Given the description of an element on the screen output the (x, y) to click on. 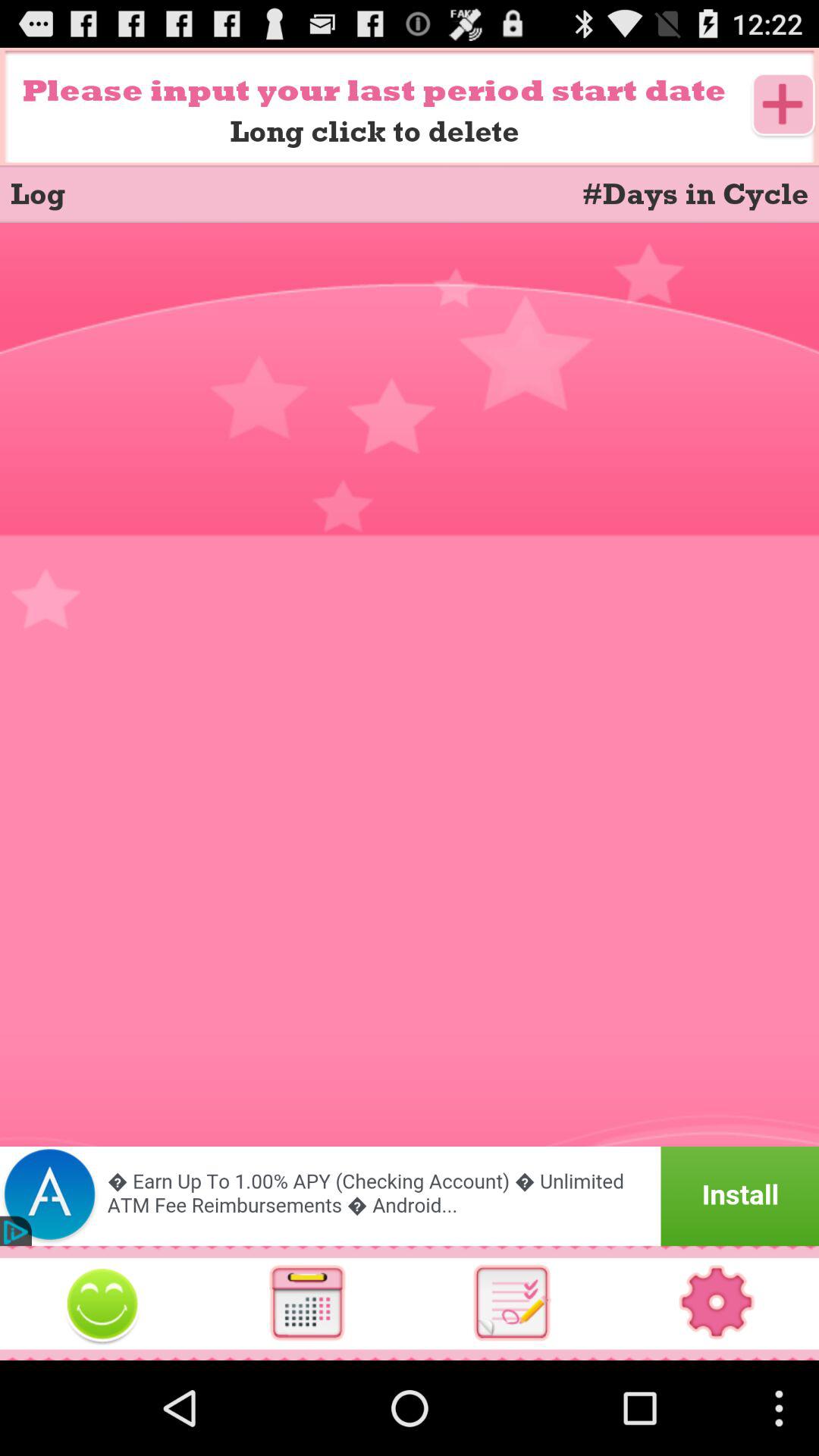
open emoticons display (102, 1302)
